Given the description of an element on the screen output the (x, y) to click on. 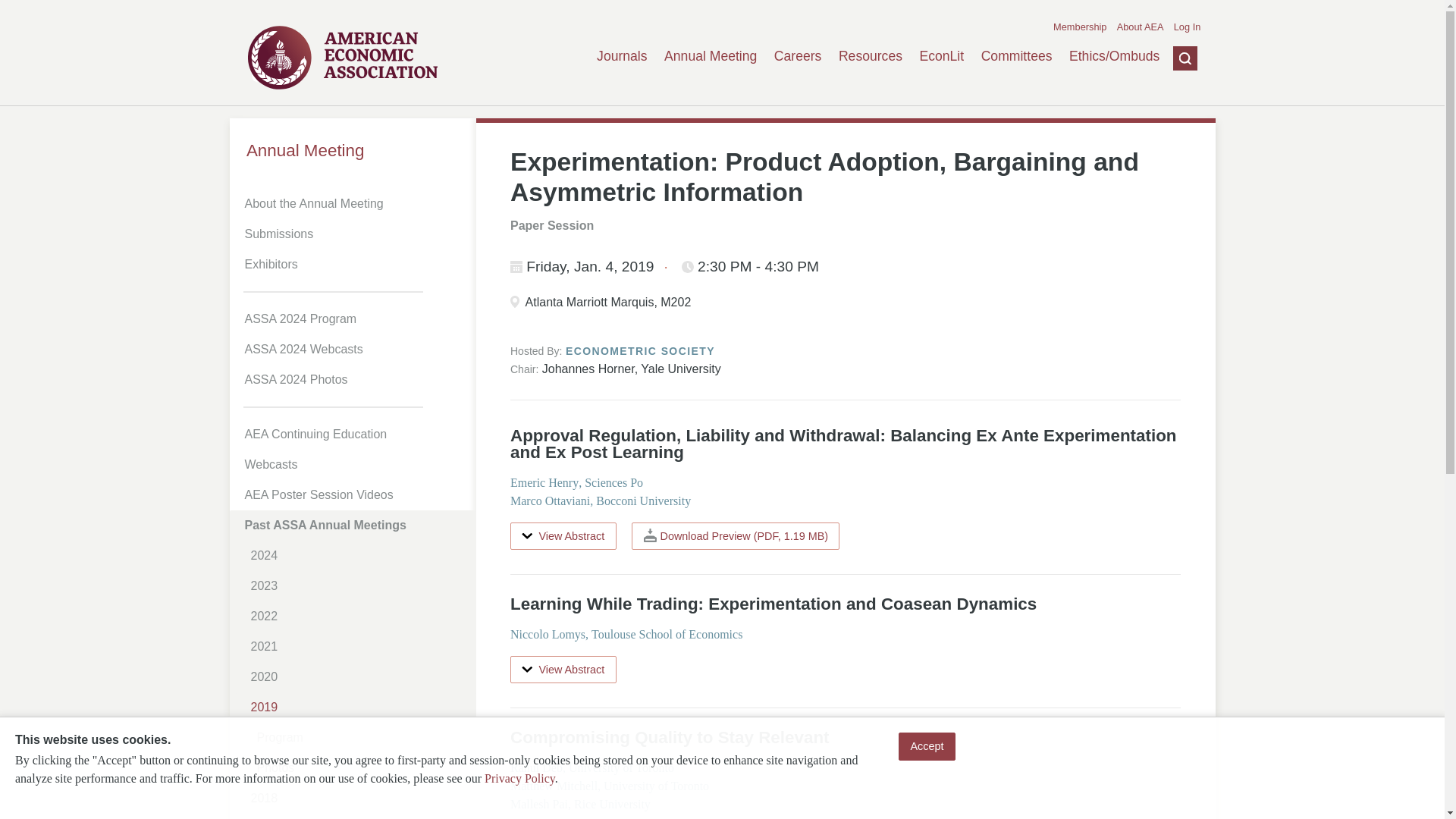
Journals (621, 55)
2022 (358, 616)
Past ASSA Annual Meetings (355, 525)
Accept (926, 746)
Exhibitors (355, 264)
Membership (1079, 26)
2024 (358, 555)
Annual Meeting (352, 150)
Webcasts (355, 464)
ASSA 2024 Photos (355, 379)
Careers (798, 55)
Resources (870, 55)
ASSA 2024 Program (355, 318)
About AEA (1139, 26)
Search (1173, 131)
